Given the description of an element on the screen output the (x, y) to click on. 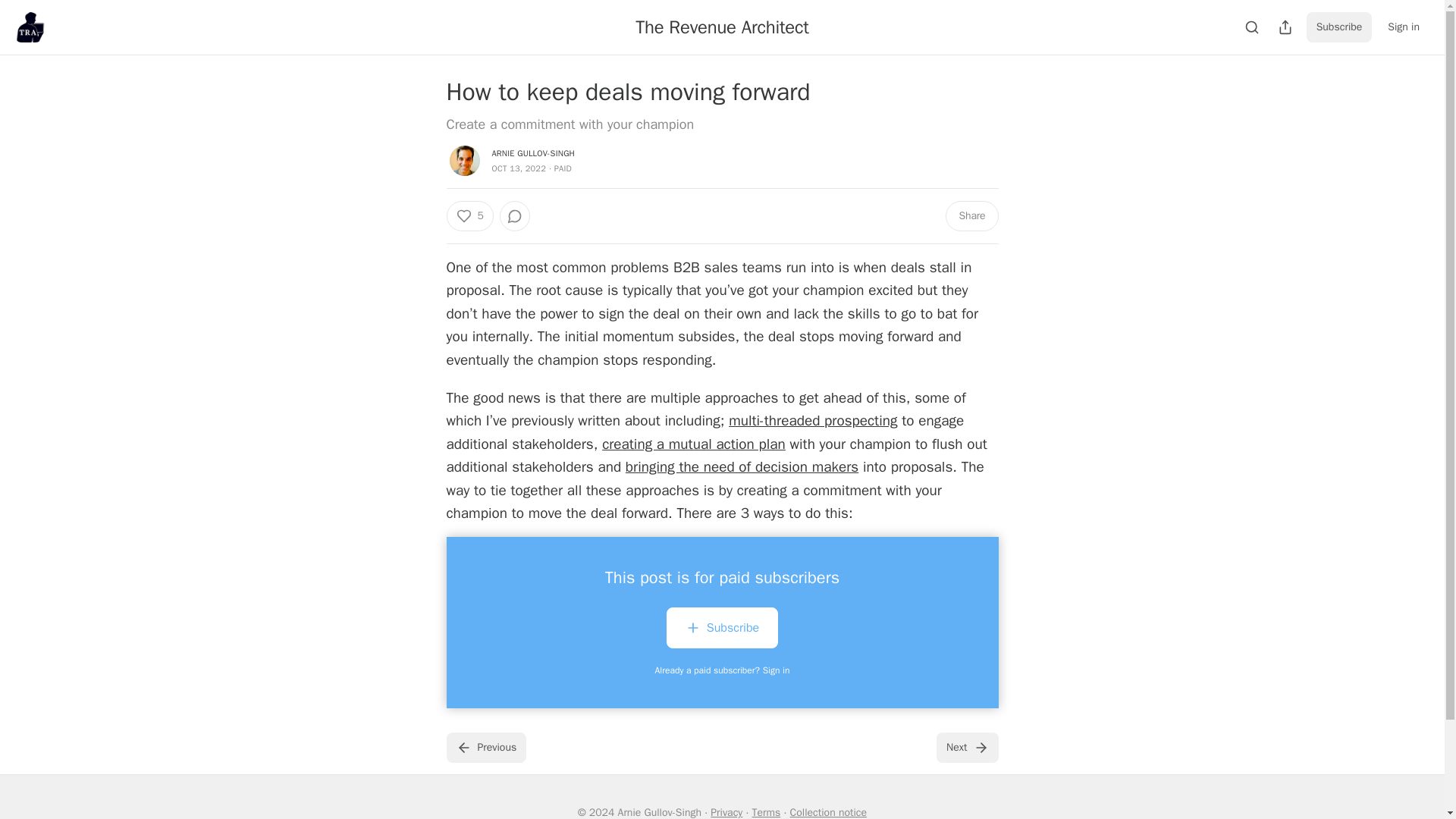
Subscribe (721, 627)
ARNIE GULLOV-SINGH (533, 153)
Subscribe (721, 630)
Subscribe (1339, 27)
Already a paid subscriber? Sign in (722, 670)
The Revenue Architect (721, 26)
Previous (485, 747)
creating a mutual action plan (694, 443)
5 (469, 215)
Privacy (726, 812)
